Given the description of an element on the screen output the (x, y) to click on. 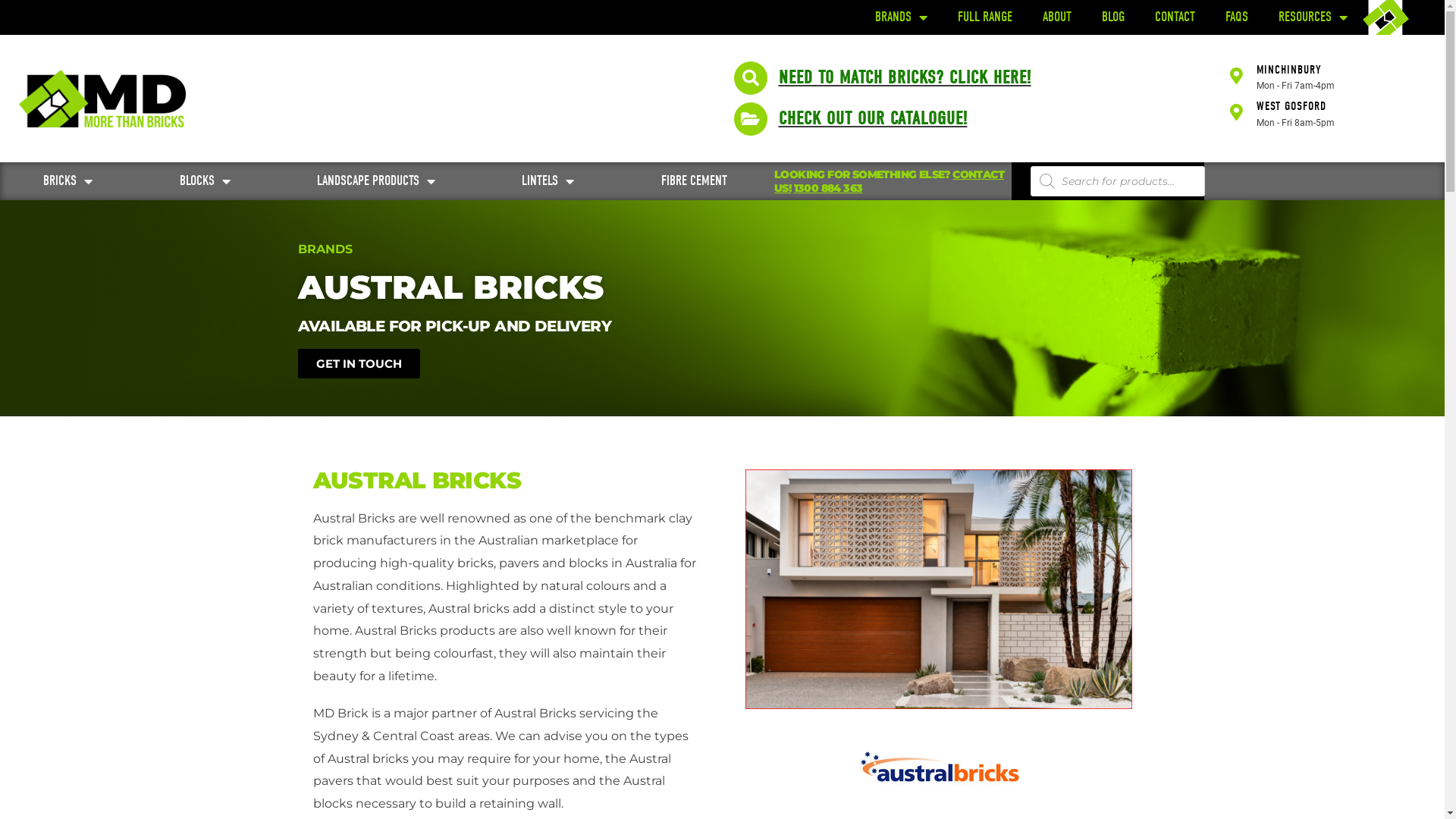
MINCHINBURY Element type: text (1288, 69)
CONTACT US! Element type: text (889, 180)
RESOURCES Element type: text (1312, 17)
FAQS Element type: text (1236, 17)
BLOCKS Element type: text (204, 181)
CHECK OUT OUR CATALOGUE! Element type: text (872, 117)
LINTELS Element type: text (547, 181)
BRANDS Element type: text (900, 17)
WEST GOSFORD Element type: text (1291, 105)
1300 884 363 Element type: text (827, 187)
CONTACT Element type: text (1174, 17)
BRICKS Element type: text (67, 181)
FULL RANGE Element type: text (984, 17)
LANDSCAPE PRODUCTS Element type: text (375, 181)
GET IN TOUCH Element type: text (358, 363)
ABOUT Element type: text (1056, 17)
FIBRE CEMENT Element type: text (694, 181)
NEED TO MATCH BRICKS? CLICK HERE! Element type: text (904, 76)
BLOG Element type: text (1112, 17)
